Given the description of an element on the screen output the (x, y) to click on. 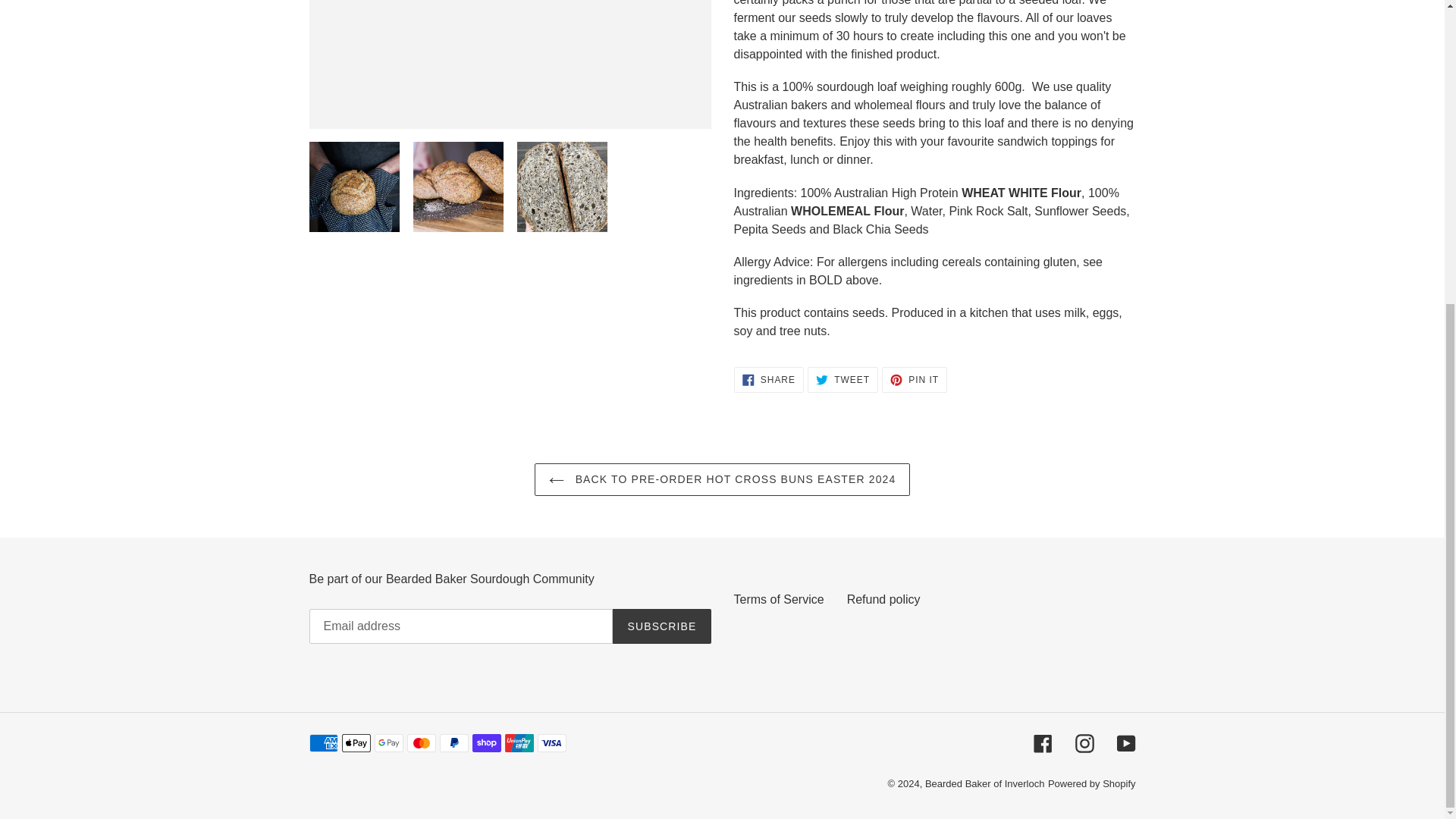
Instagram (768, 379)
BACK TO PRE-ORDER HOT CROSS BUNS EASTER 2024 (1084, 742)
Refund policy (722, 479)
SUBSCRIBE (883, 599)
Terms of Service (842, 379)
Facebook (661, 626)
